Given the description of an element on the screen output the (x, y) to click on. 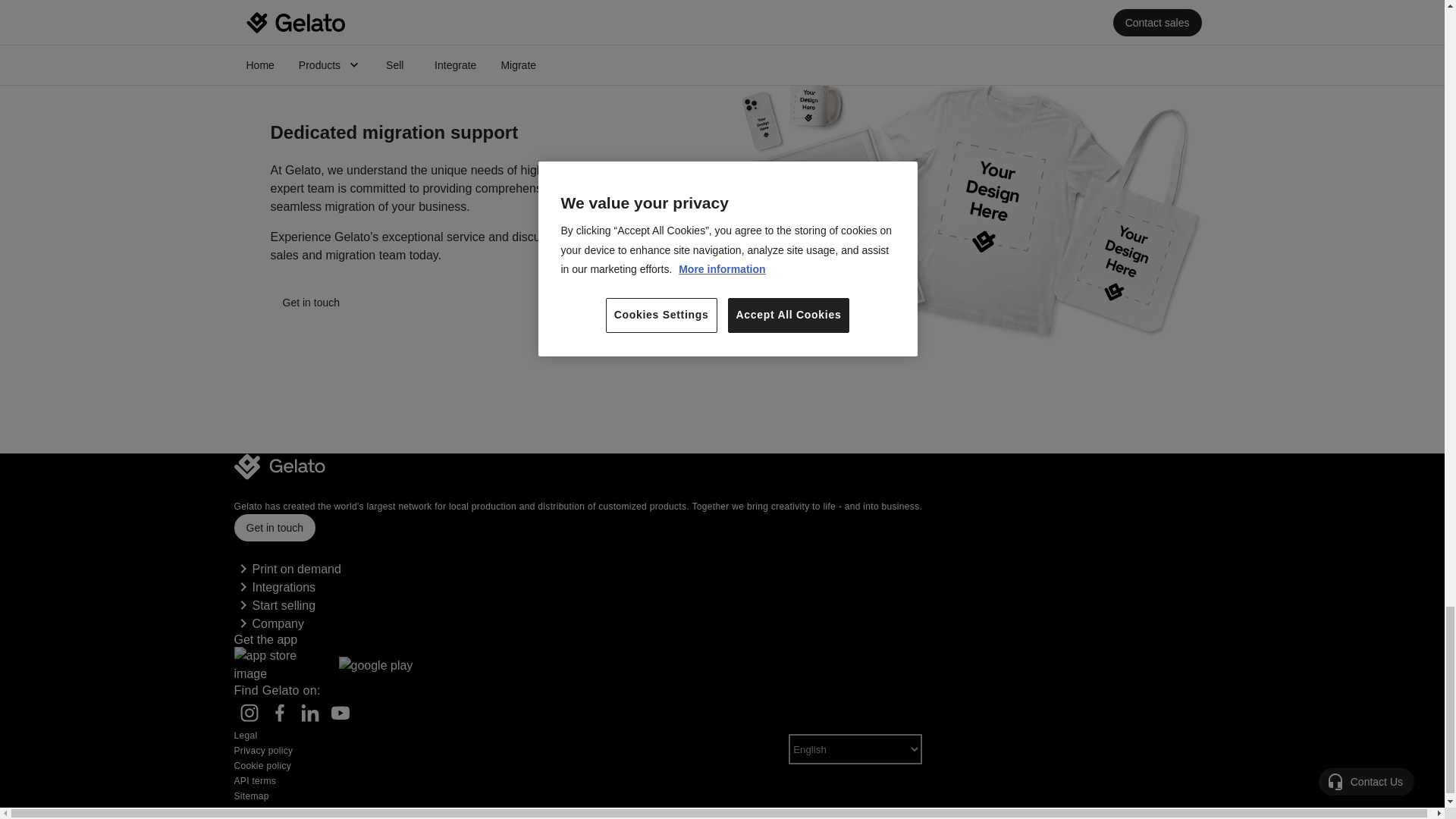
Get in touch (310, 311)
Get in touch (273, 536)
Get in touch (273, 527)
Get in touch (310, 302)
